Given the description of an element on the screen output the (x, y) to click on. 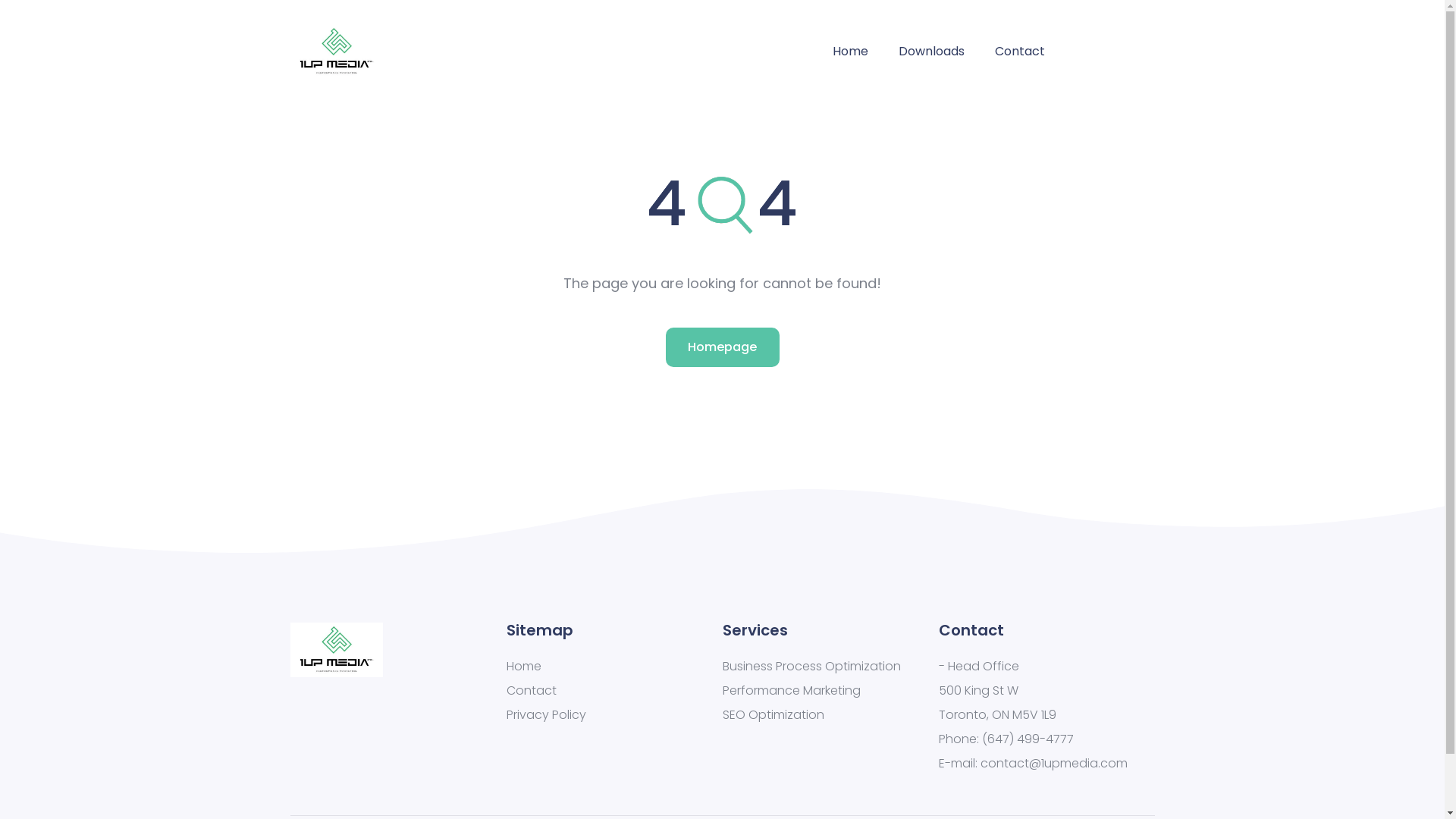
Contact Element type: text (1019, 51)
Home Element type: text (850, 51)
E-mail: contact@1upmedia.com Element type: text (1046, 763)
Downloads Element type: text (930, 51)
Contact Element type: text (614, 690)
Privacy Policy Element type: text (614, 715)
Home Element type: text (614, 666)
Homepage Element type: text (722, 347)
